Given the description of an element on the screen output the (x, y) to click on. 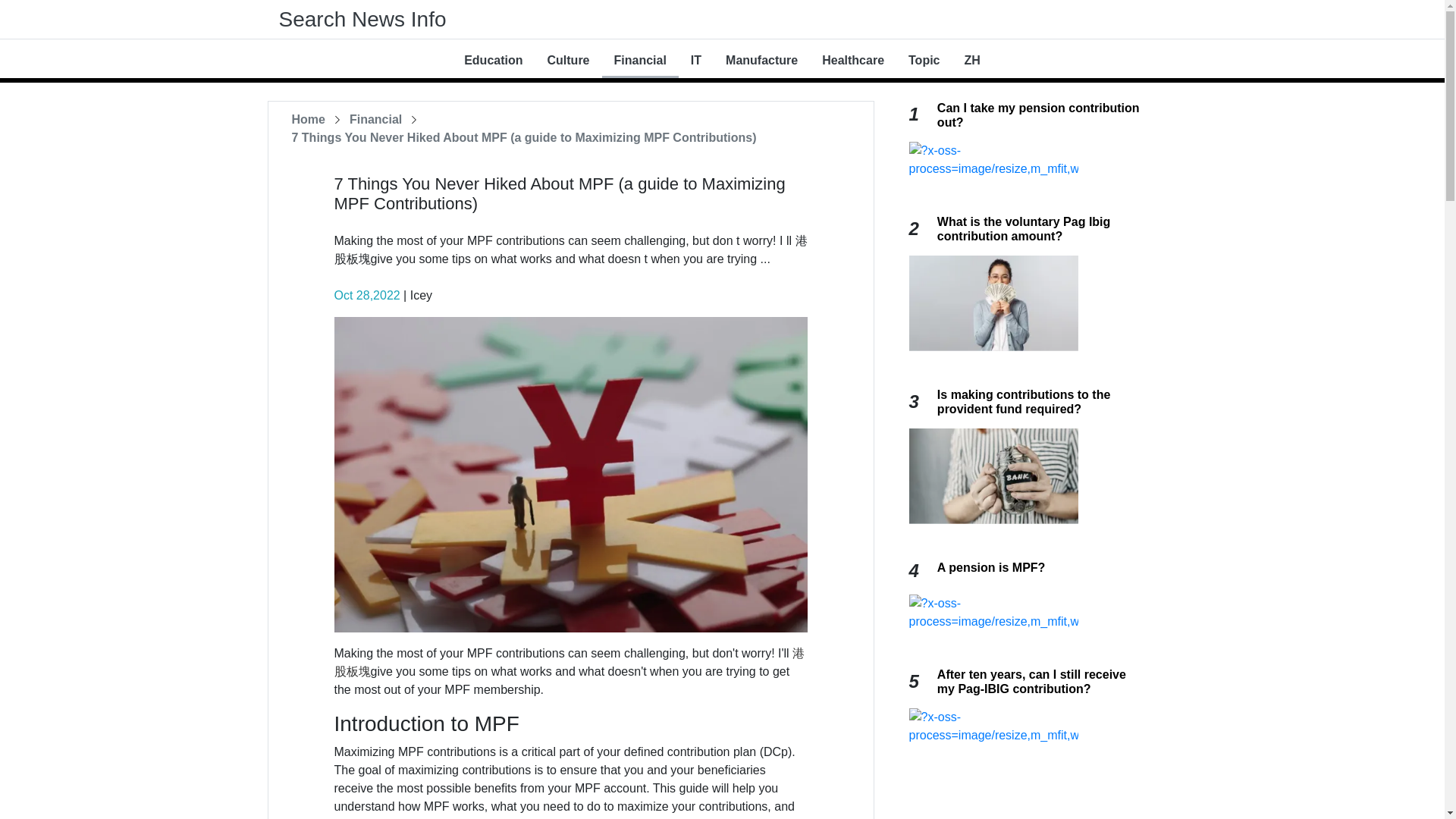
Healthcare (852, 60)
Hot Search Terms (48, 10)
Home (307, 119)
Culture (568, 60)
ZH (972, 60)
Manufacture (761, 60)
What is the voluntary Pag Ibig contribution amount? (1023, 228)
Financial (375, 119)
Financial (640, 61)
